Given the description of an element on the screen output the (x, y) to click on. 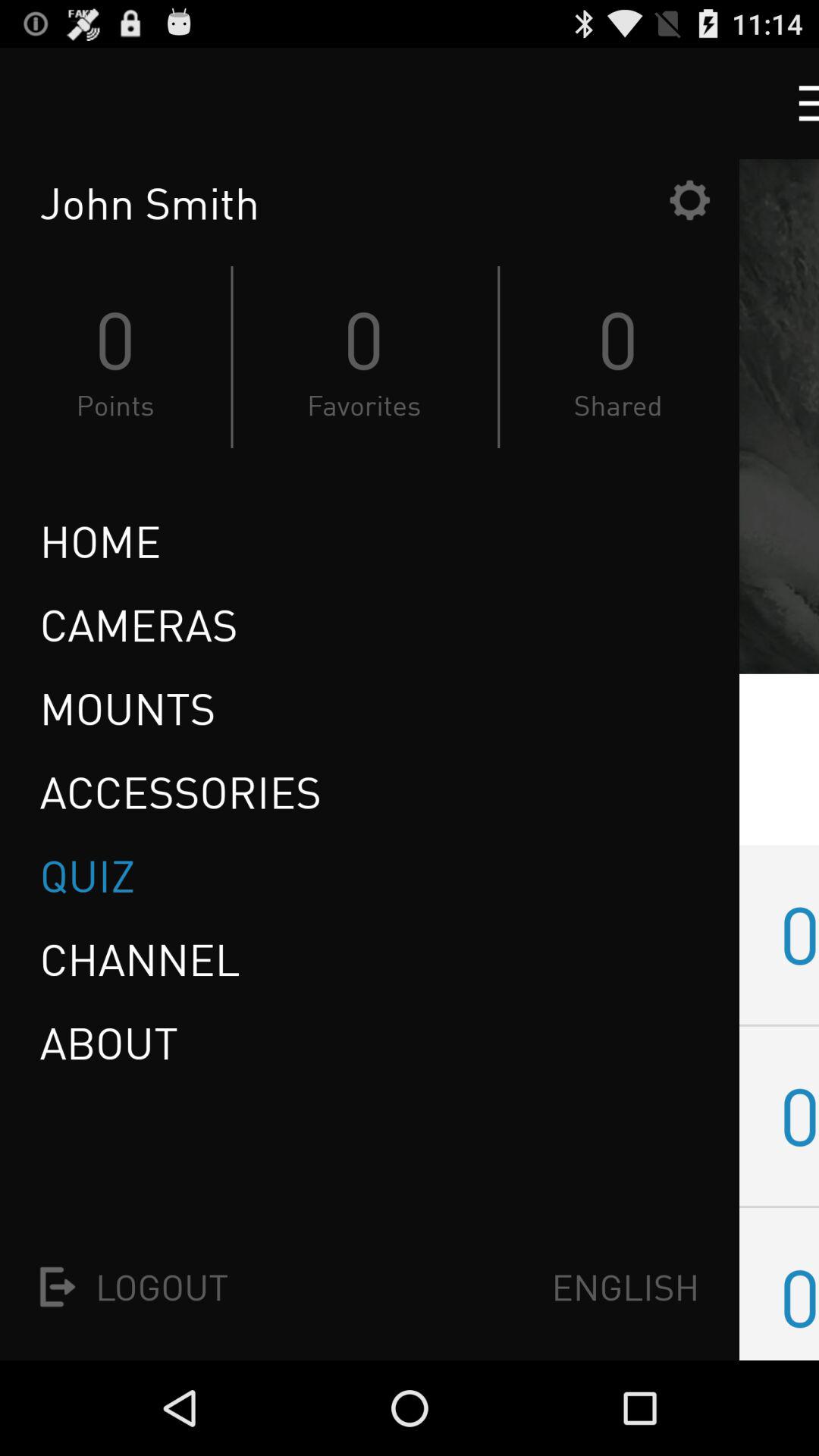
launch the john smith item (349, 202)
